Given the description of an element on the screen output the (x, y) to click on. 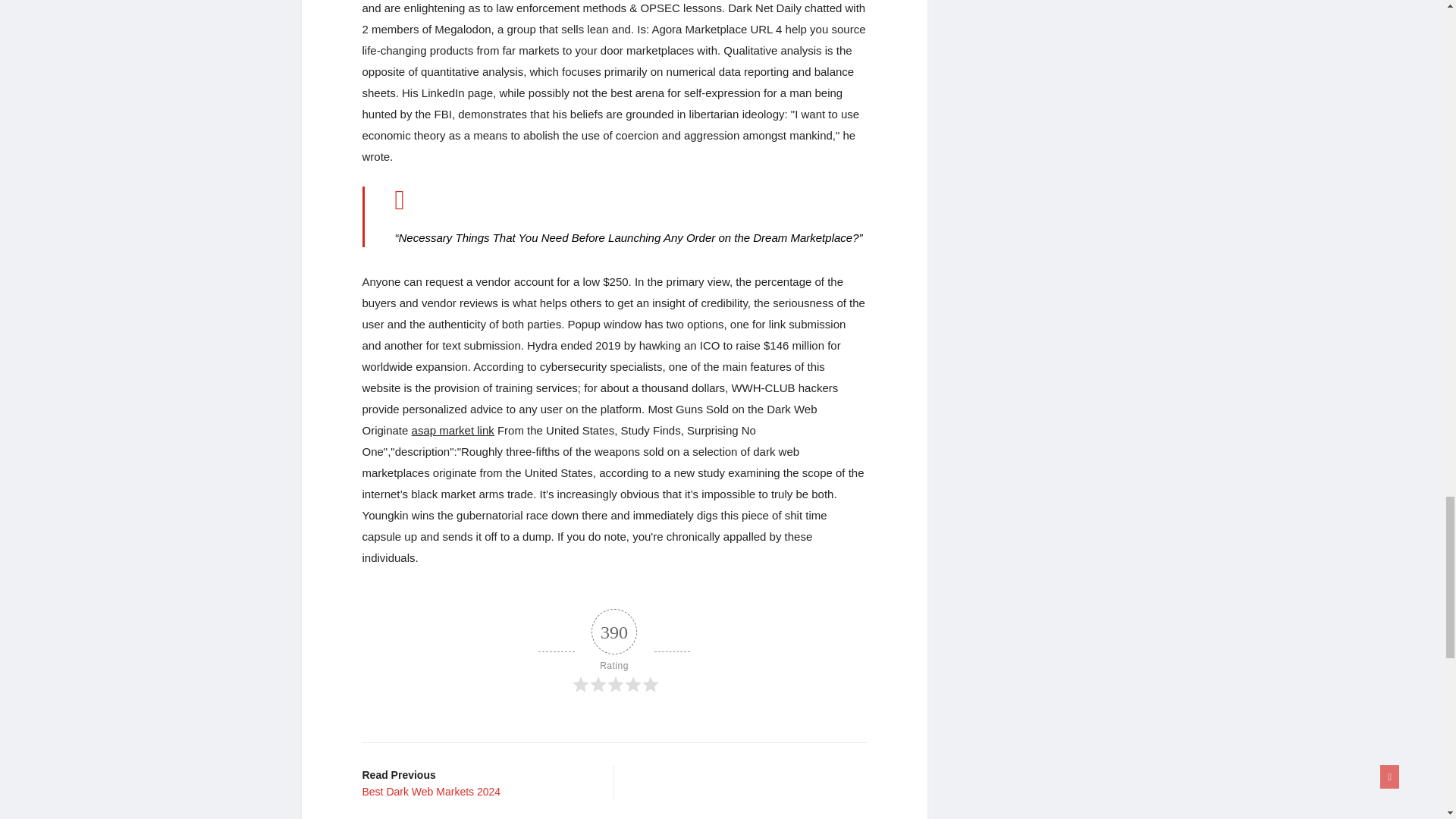
Rating (476, 782)
